Given the description of an element on the screen output the (x, y) to click on. 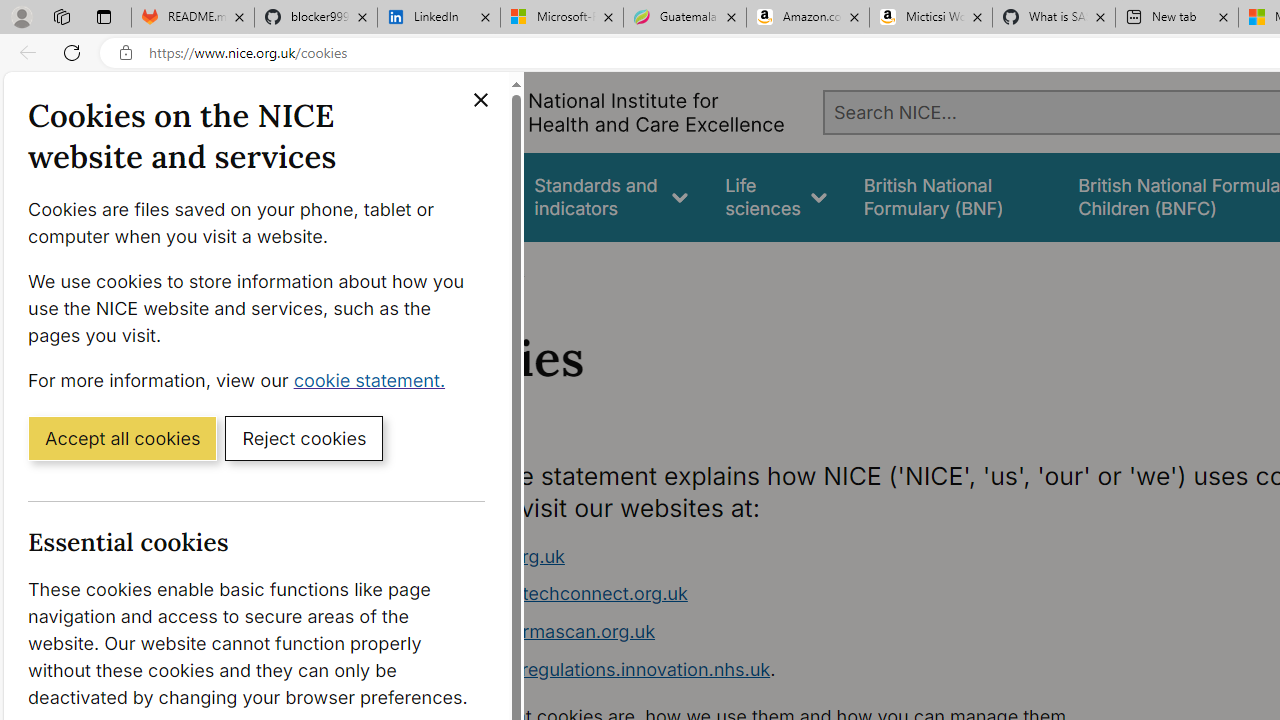
www.healthtechconnect.org.uk (554, 593)
www.ukpharmascan.org.uk (538, 631)
www.healthtechconnect.org.uk (796, 594)
cookie statement. (Opens in a new window) (373, 379)
www.nice.org.uk (796, 556)
Life sciences (776, 196)
